Given the description of an element on the screen output the (x, y) to click on. 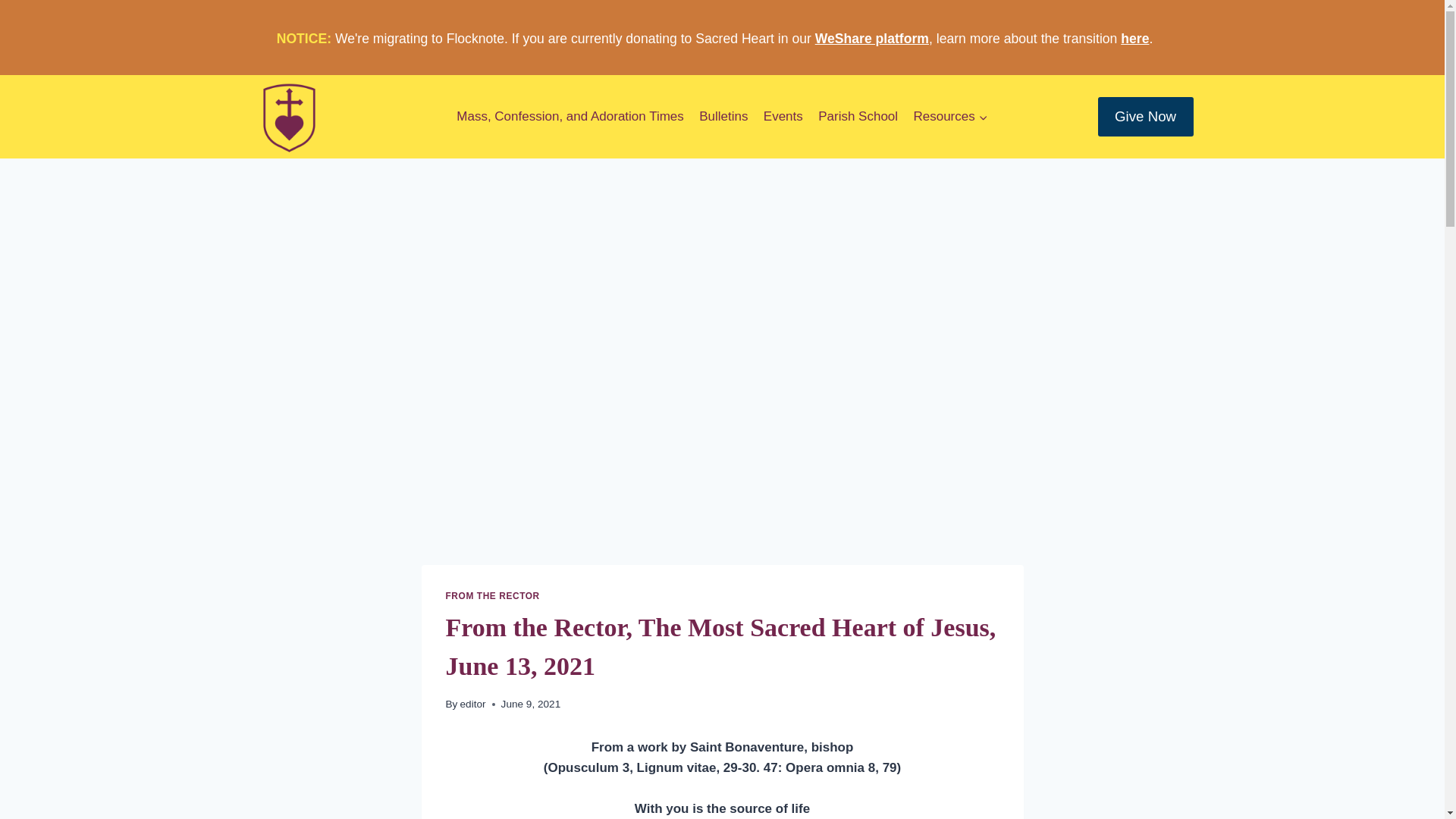
editor (473, 704)
Mass, Confession, and Adoration Times (569, 116)
here (1134, 38)
Events (782, 116)
Give Now (1145, 116)
WeShare platform (871, 38)
Bulletins (723, 116)
Parish School (857, 116)
Resources (950, 116)
FROM THE RECTOR (492, 595)
